Given the description of an element on the screen output the (x, y) to click on. 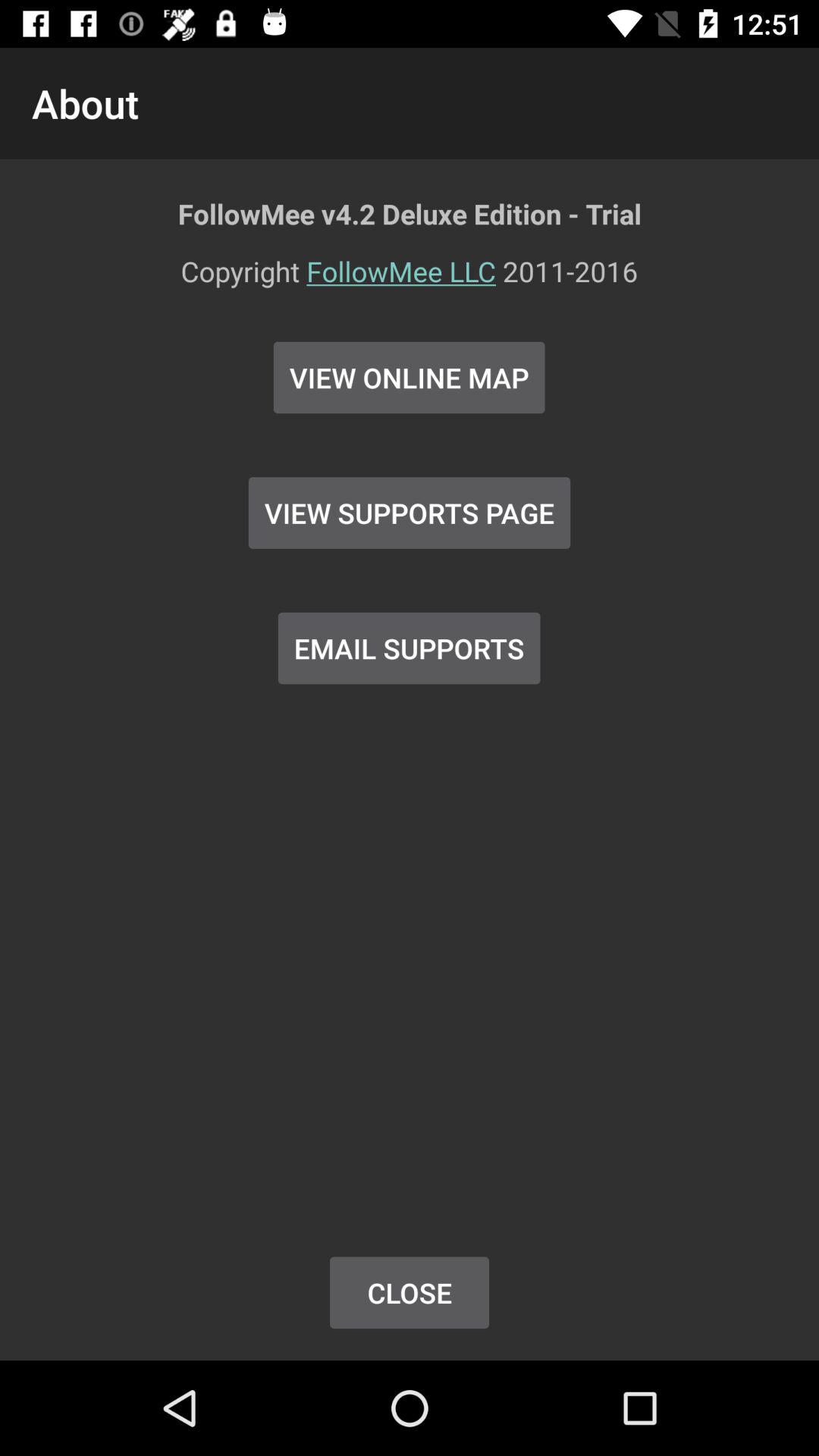
jump until view online map icon (408, 377)
